Given the description of an element on the screen output the (x, y) to click on. 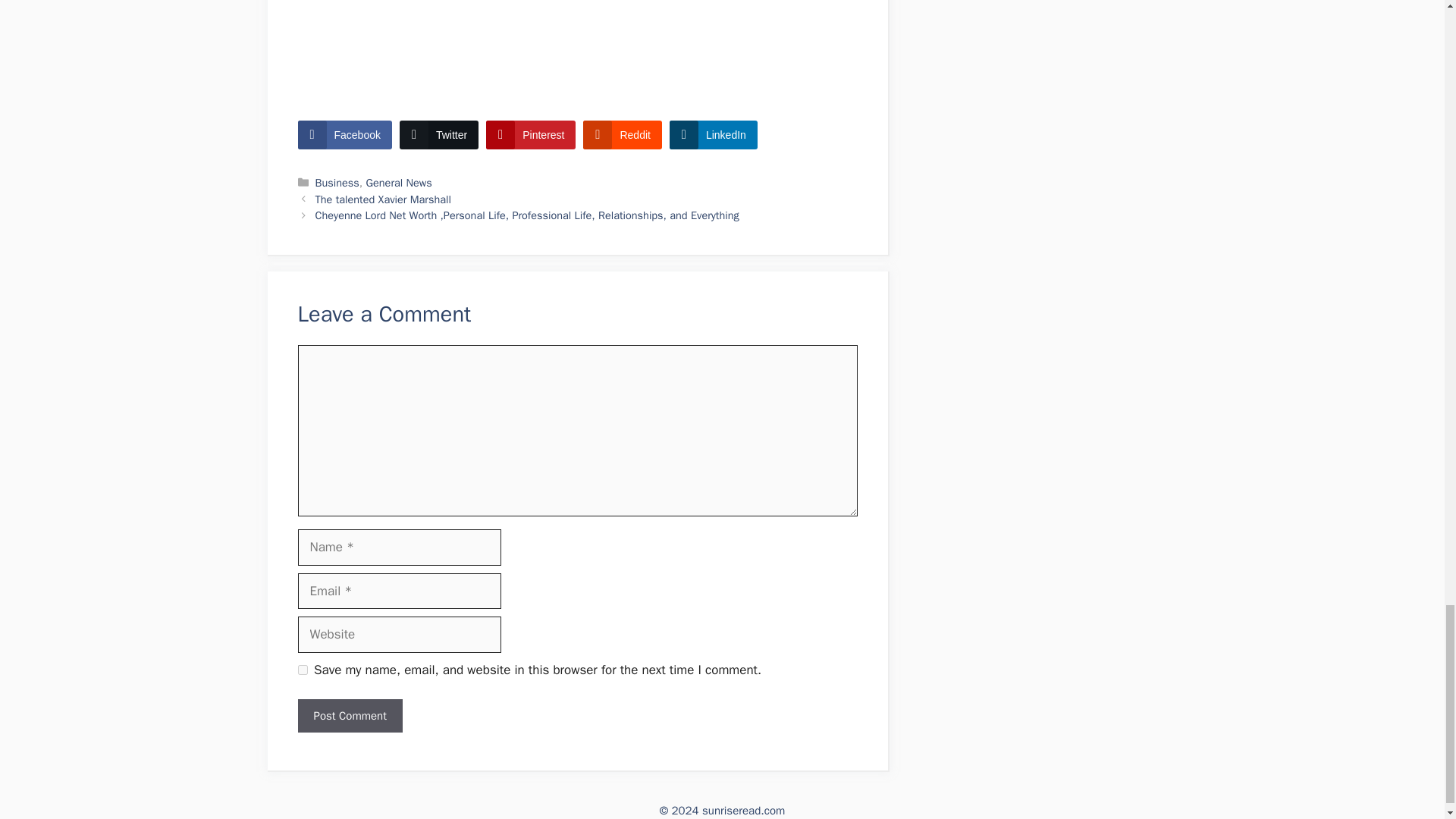
Post Comment (349, 716)
General News (399, 182)
Business (337, 182)
The talented Xavier Marshall (383, 199)
Facebook (344, 134)
yes (302, 669)
Post Comment (349, 716)
Pinterest (530, 134)
Twitter (438, 134)
